Given the description of an element on the screen output the (x, y) to click on. 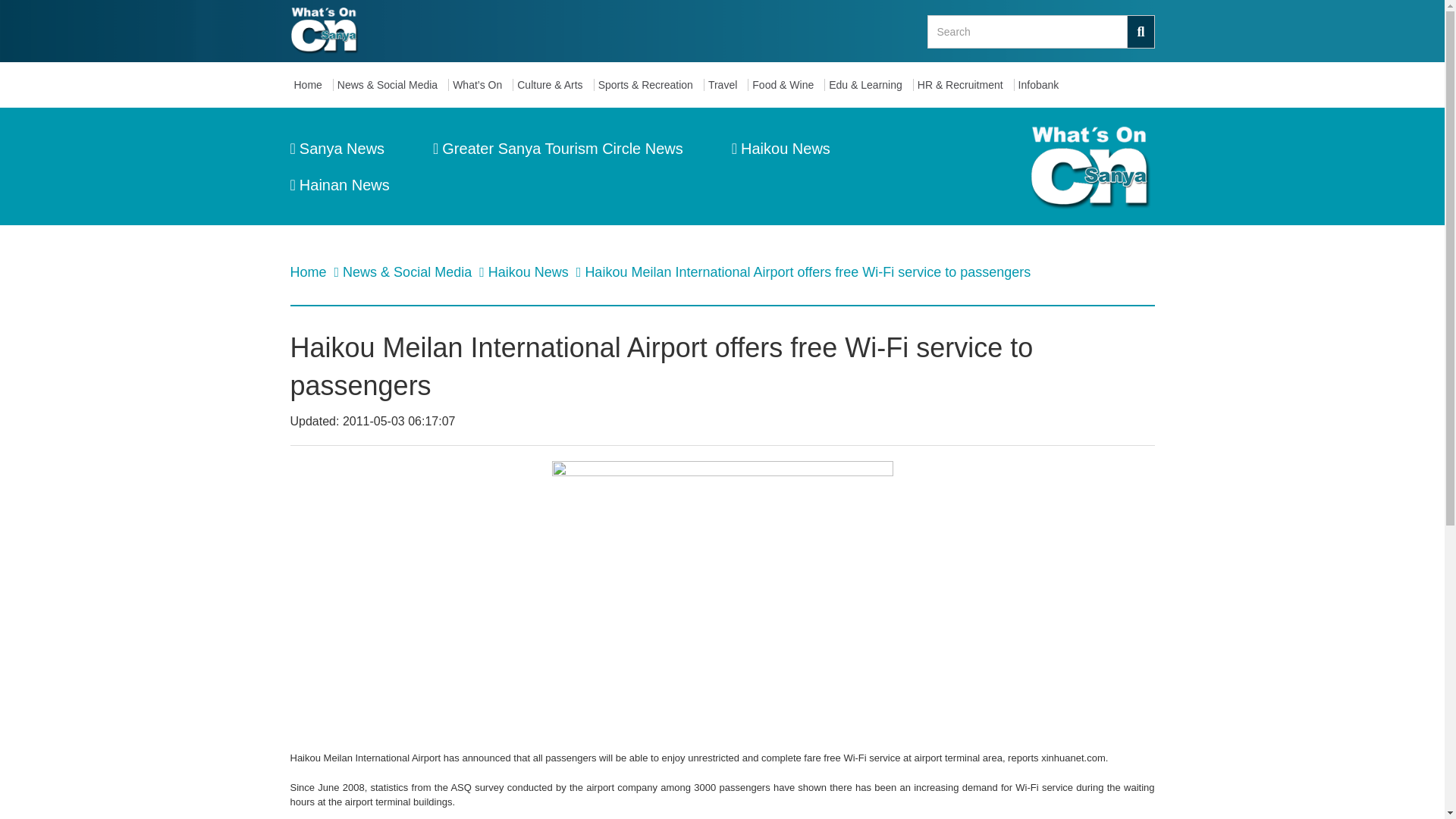
Hainan News (338, 184)
Infobank (1042, 84)
Sanya News (336, 148)
Home (309, 272)
Haikou News (529, 272)
Greater Sanya Tourism Circle News (557, 148)
Travel (726, 84)
Haikou News (780, 148)
Home (311, 84)
